Given the description of an element on the screen output the (x, y) to click on. 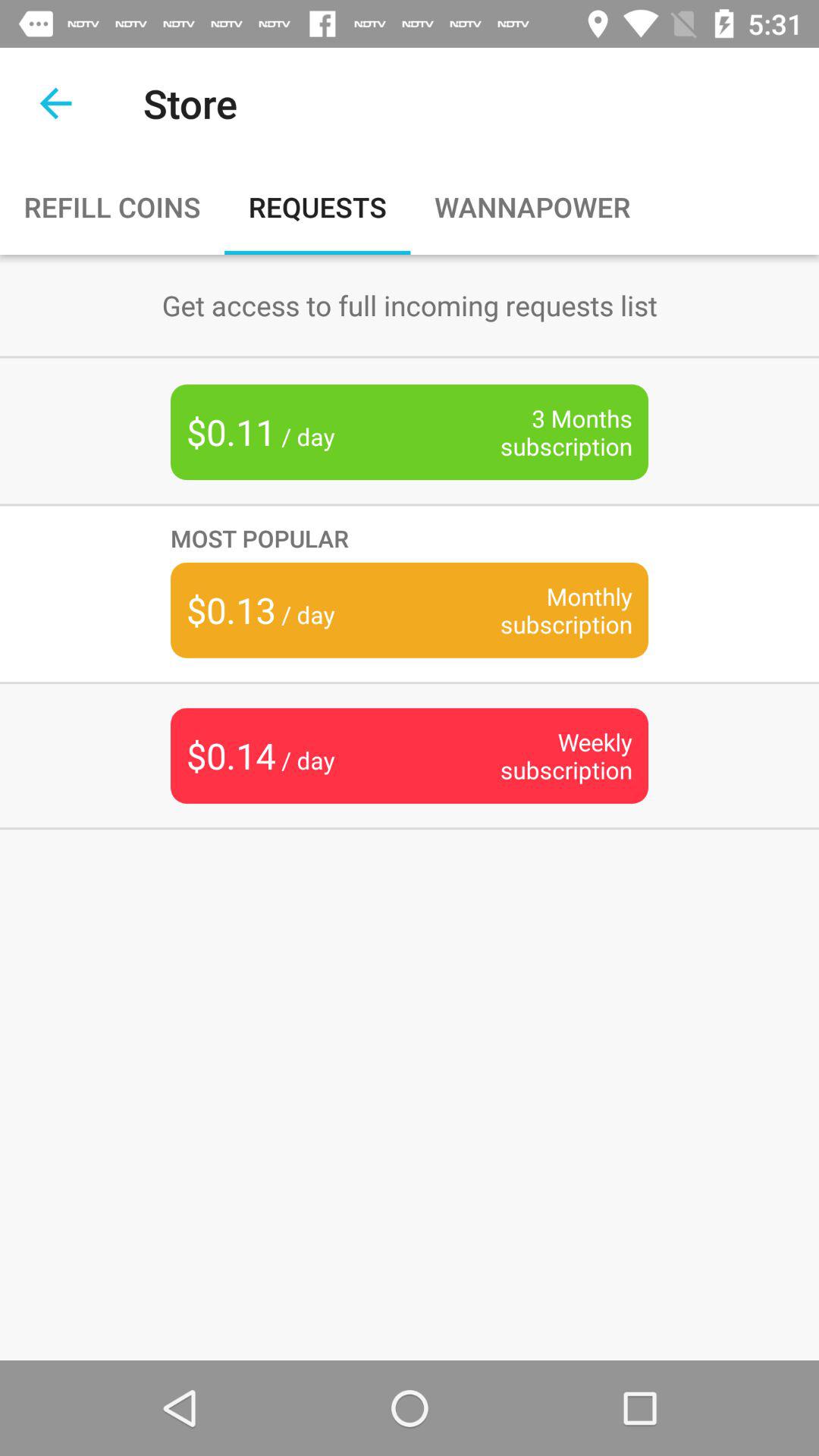
choose item above weekly subscription item (543, 610)
